Given the description of an element on the screen output the (x, y) to click on. 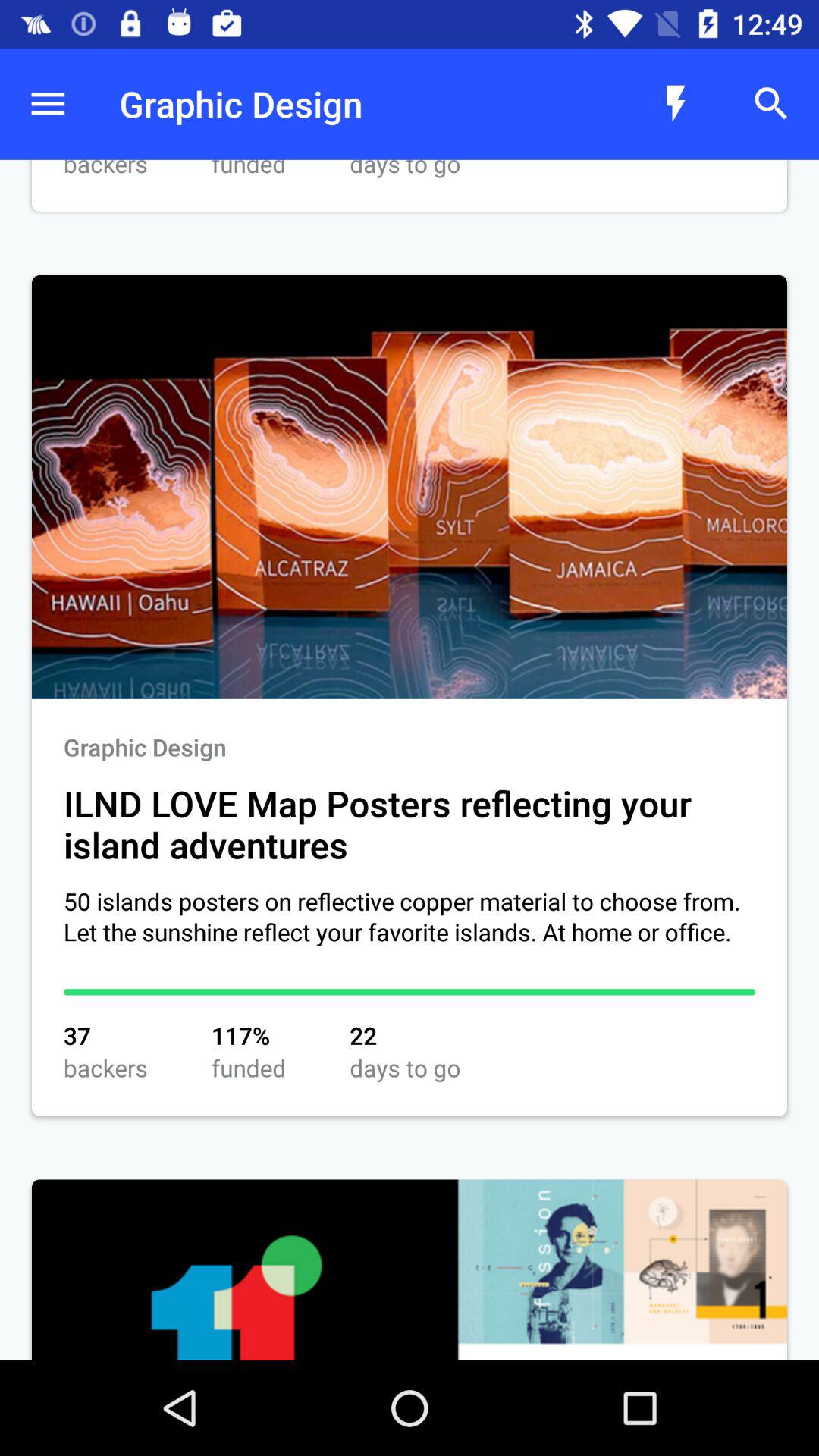
open the icon next to the graphic design item (675, 103)
